Given the description of an element on the screen output the (x, y) to click on. 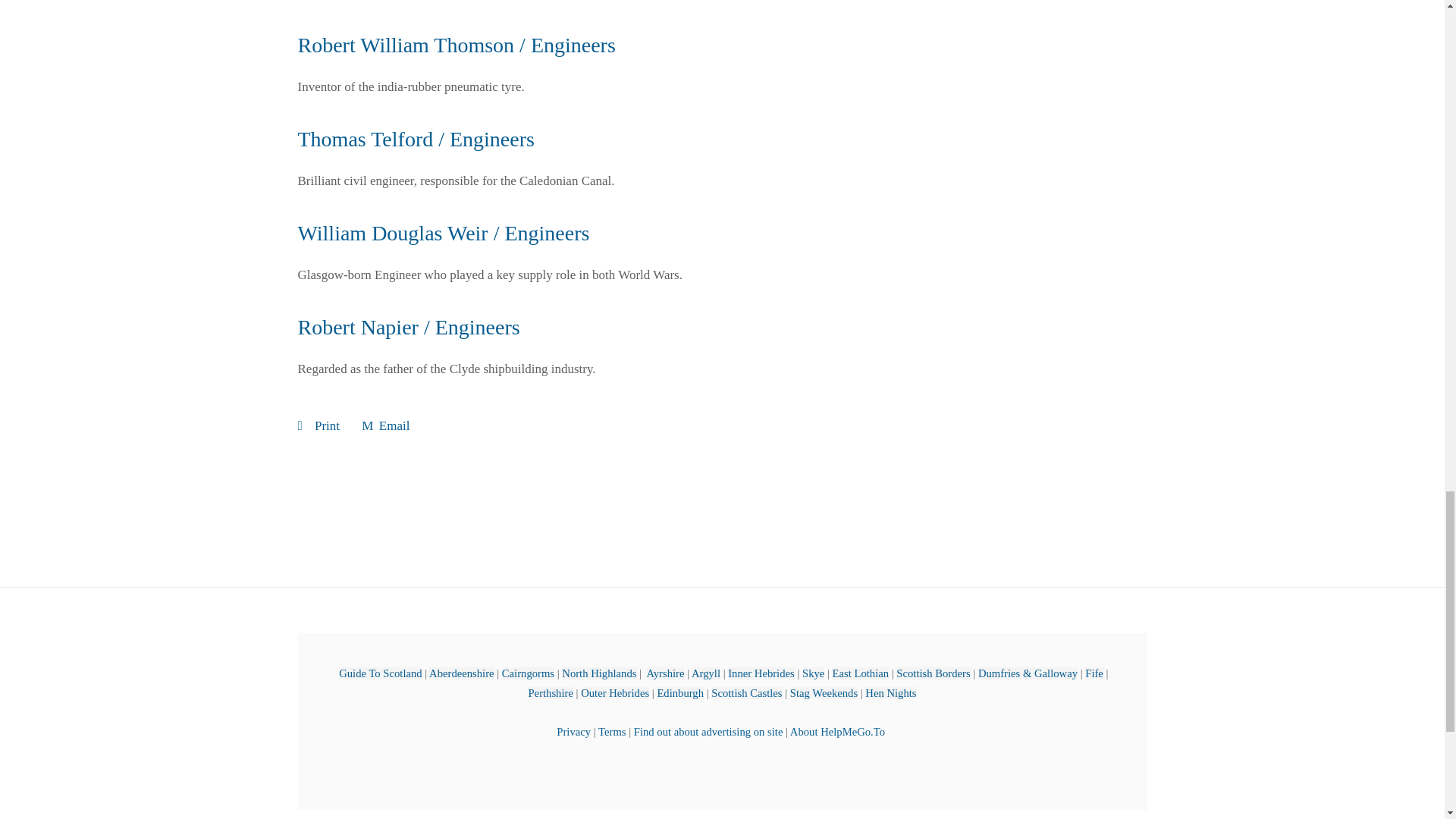
Email this link to a friend (385, 425)
Robert Napier (408, 327)
Robert William (455, 44)
Thomas Telford (415, 138)
William Douglas Weir (443, 232)
